Given the description of an element on the screen output the (x, y) to click on. 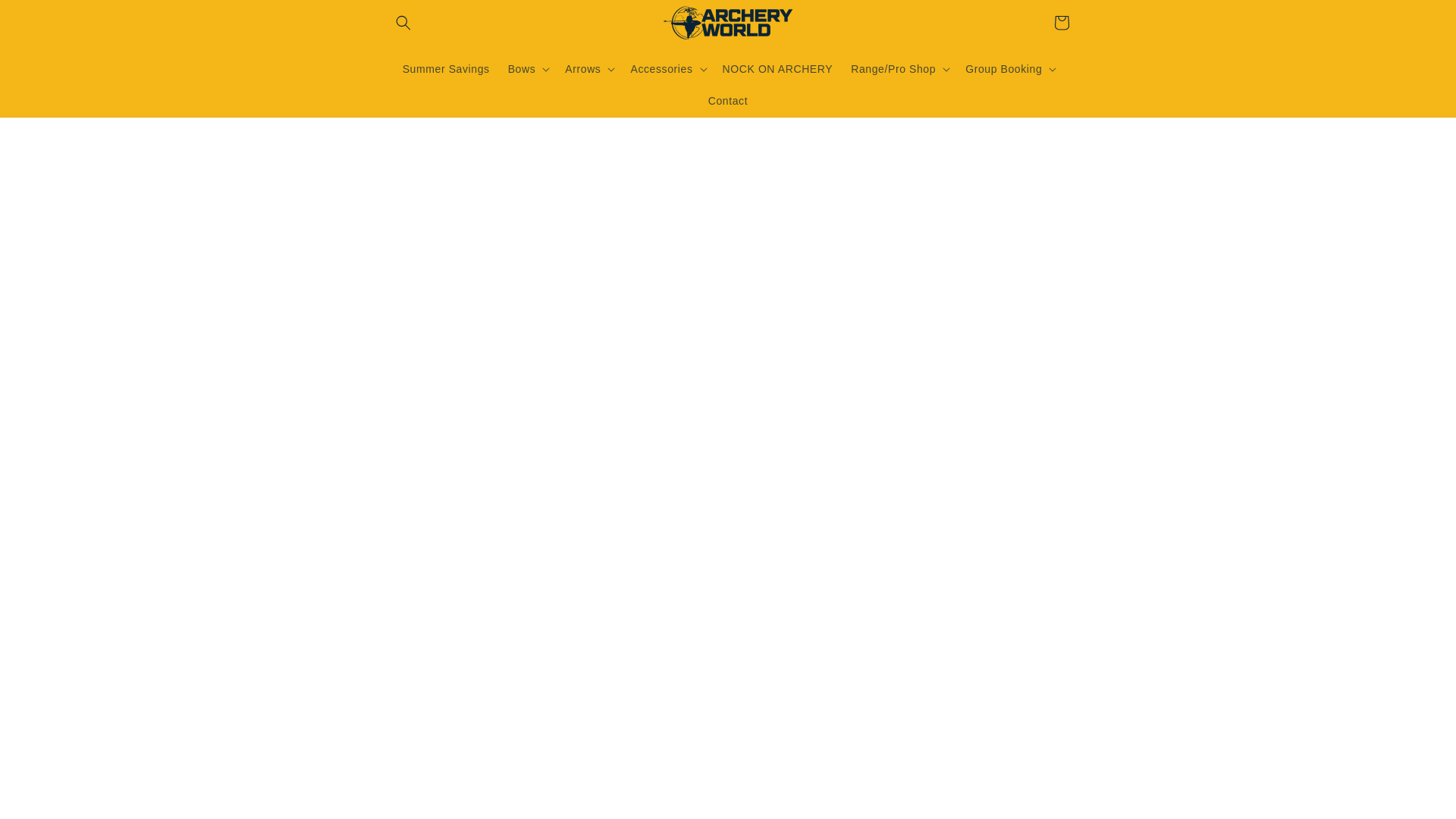
Skip to content (46, 18)
